Given the description of an element on the screen output the (x, y) to click on. 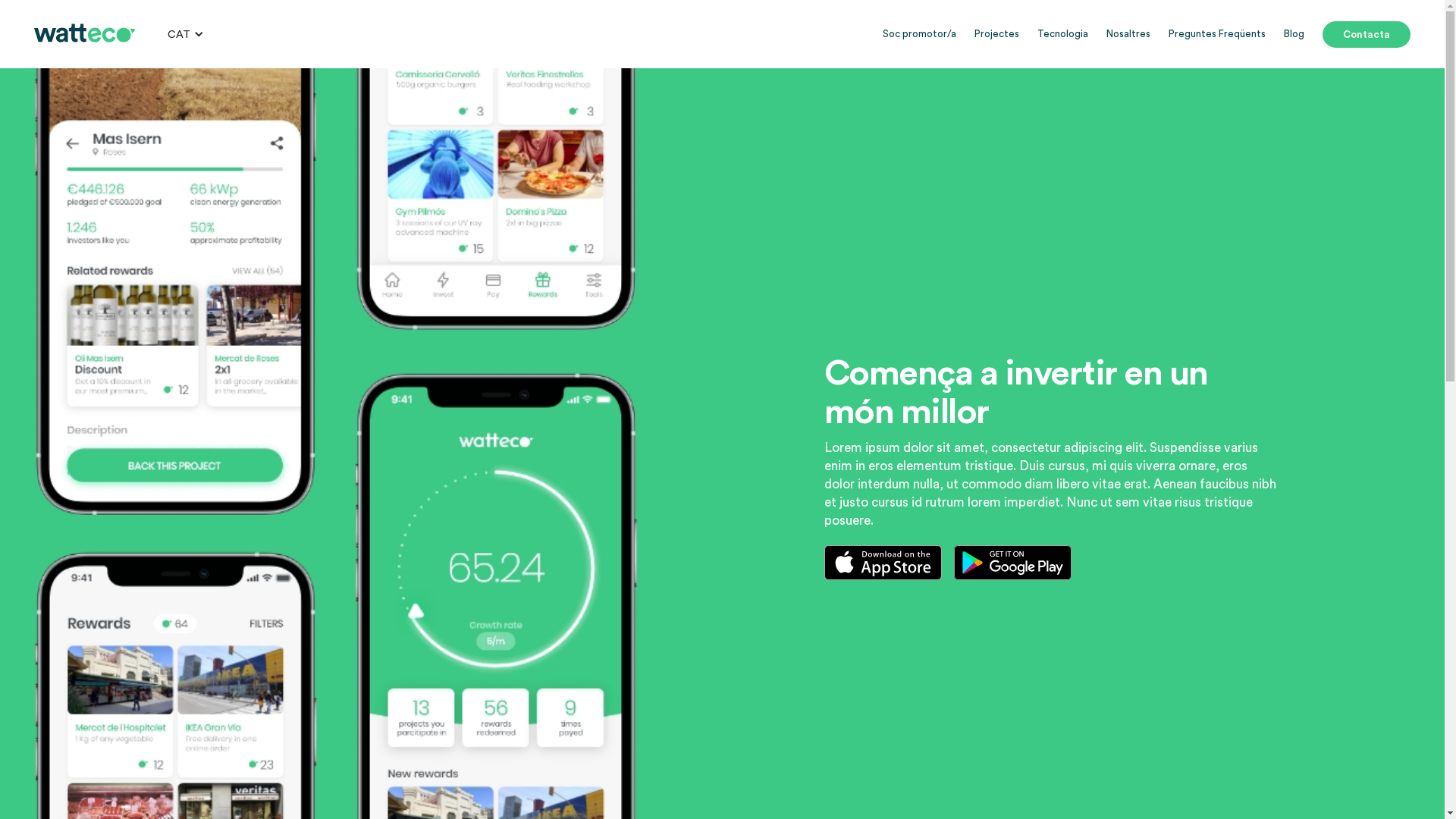
Nosaltres Element type: text (1128, 33)
Projectes Element type: text (996, 33)
Soc promotor/a Element type: text (919, 33)
Contacta Element type: text (1366, 34)
Blog Element type: text (1293, 33)
Tecnologia Element type: text (1062, 33)
